Given the description of an element on the screen output the (x, y) to click on. 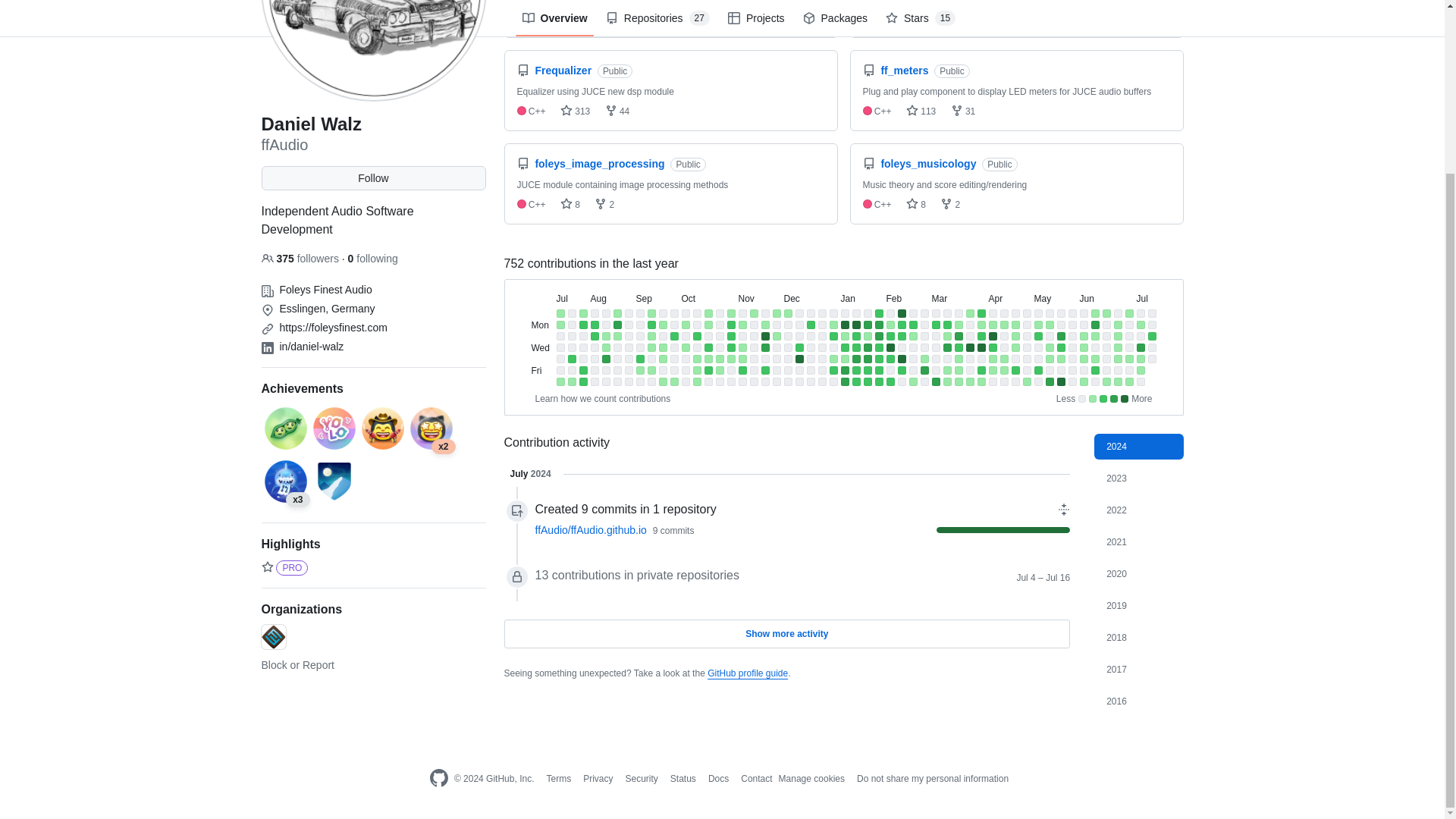
Label: Pro (291, 567)
GitHub (438, 778)
LinkedIn (266, 347)
